Given the description of an element on the screen output the (x, y) to click on. 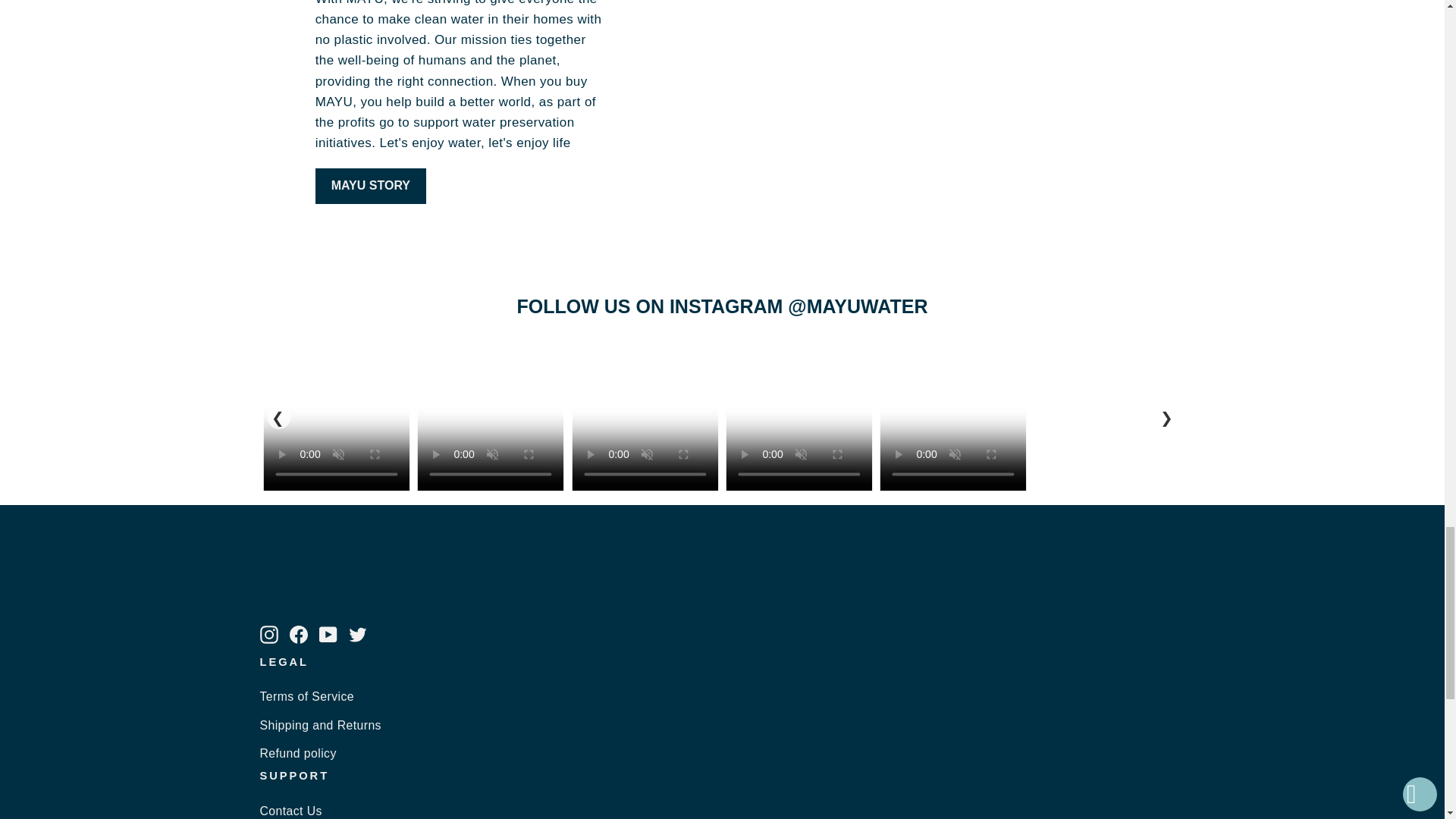
Mayu Water on YouTube (327, 633)
instagram (268, 634)
Mayu Water on Twitter (357, 633)
twitter (357, 634)
Mayu Water on Facebook (298, 633)
